Given the description of an element on the screen output the (x, y) to click on. 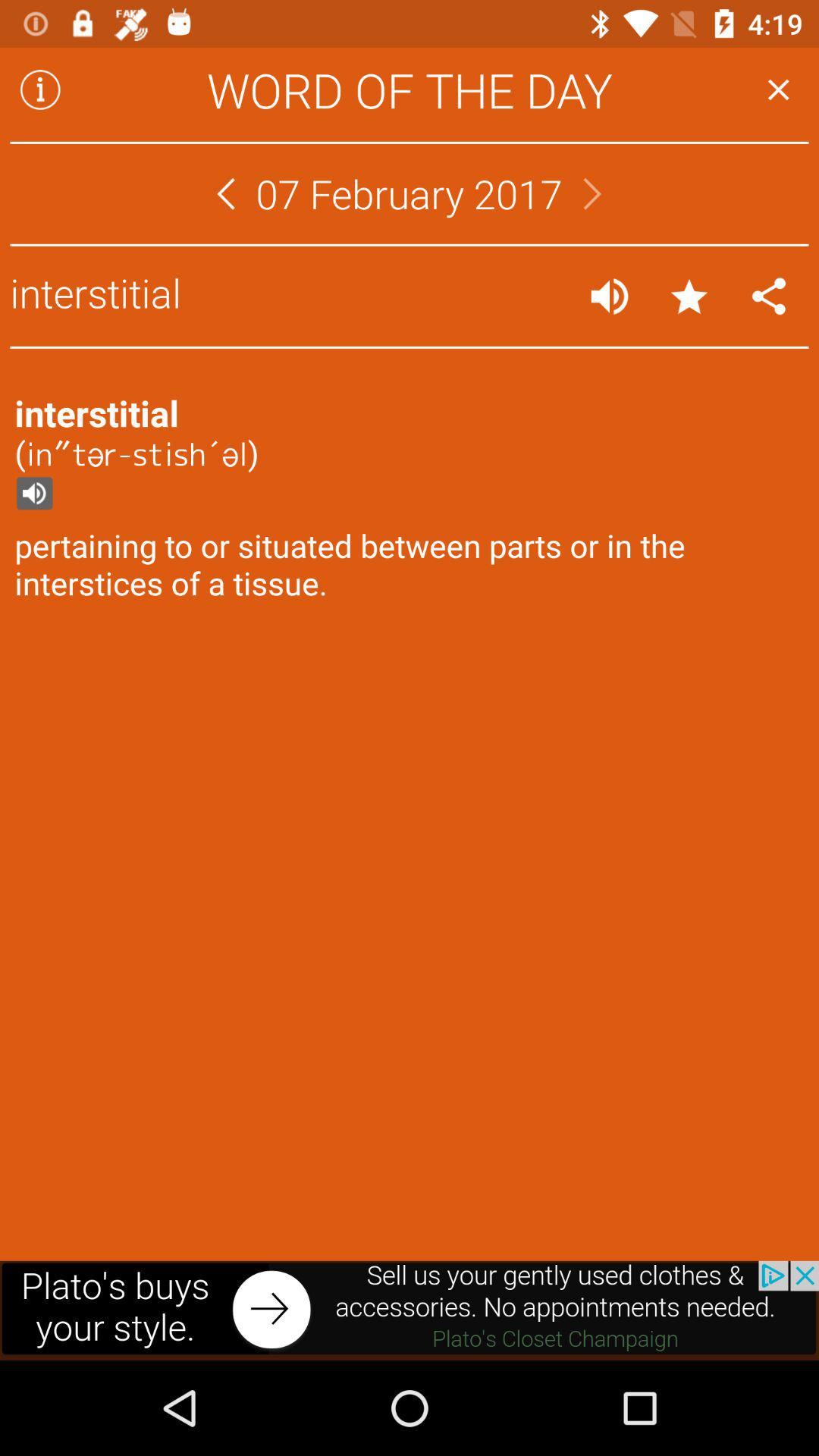
go back (225, 193)
